Given the description of an element on the screen output the (x, y) to click on. 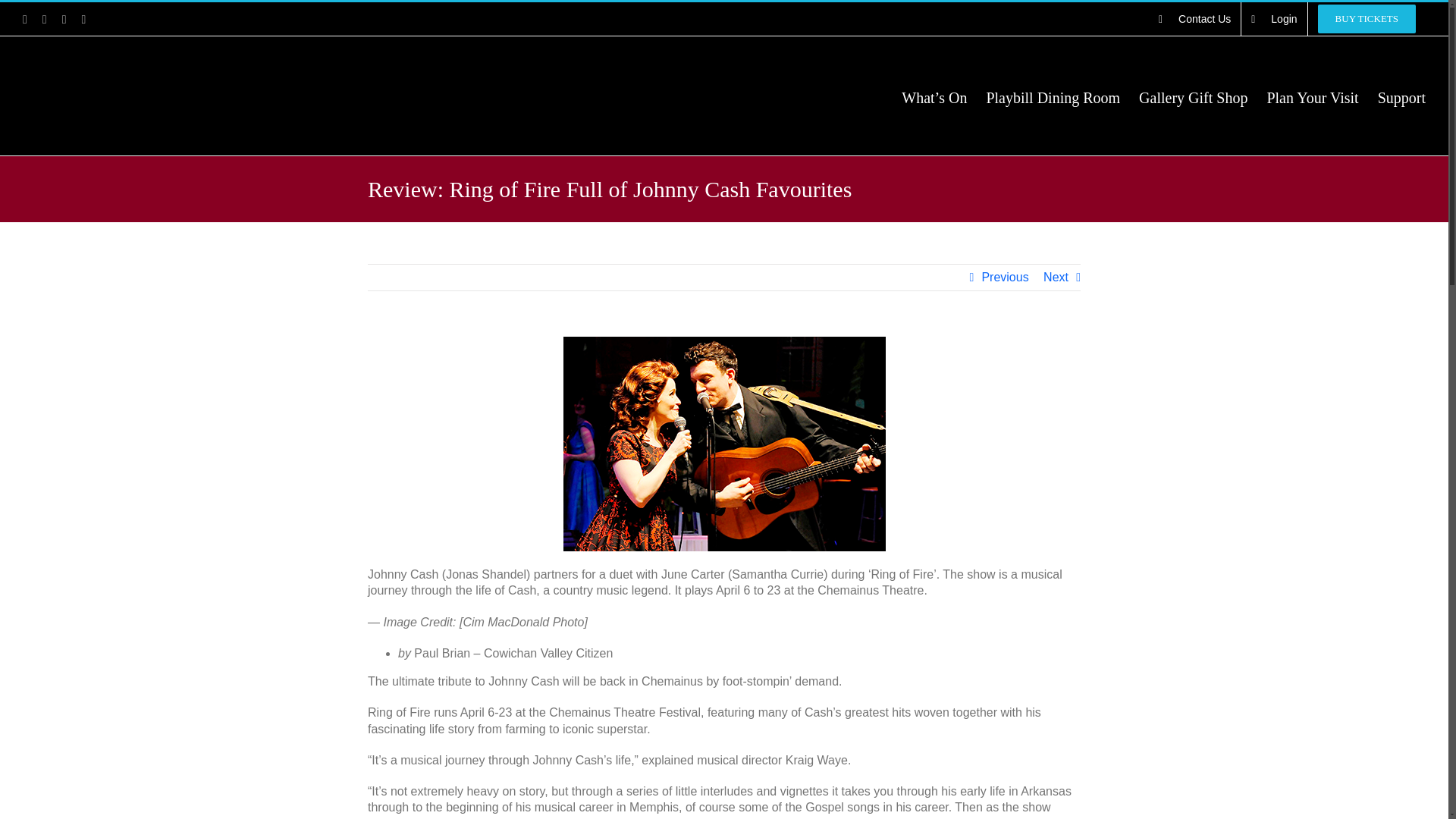
Playbill Dining Room (1052, 97)
Buy Tickets (1366, 19)
BUY TICKETS (1366, 19)
Login (1273, 19)
Contact Us (1194, 19)
Gallery Gift Shop (1192, 97)
